Given the description of an element on the screen output the (x, y) to click on. 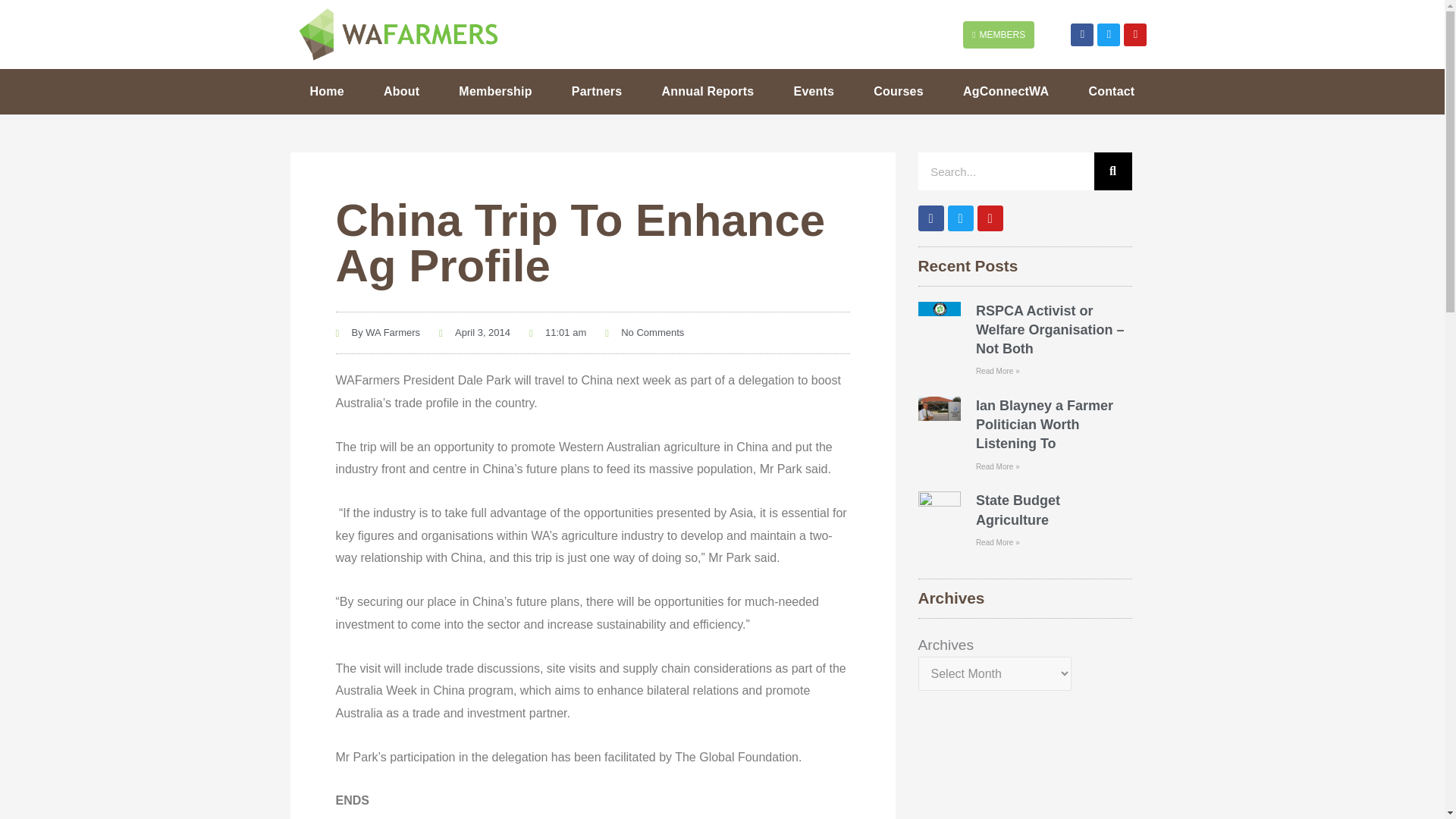
AgConnectWA (1005, 91)
MEMBERS (997, 34)
Courses (898, 91)
Contact (1111, 91)
Facebook-f (1081, 34)
Youtube (1135, 34)
Twitter (1108, 34)
About (401, 91)
Home (325, 91)
Membership (495, 91)
Annual Reports (707, 91)
Events (813, 91)
Partners (596, 91)
